Given the description of an element on the screen output the (x, y) to click on. 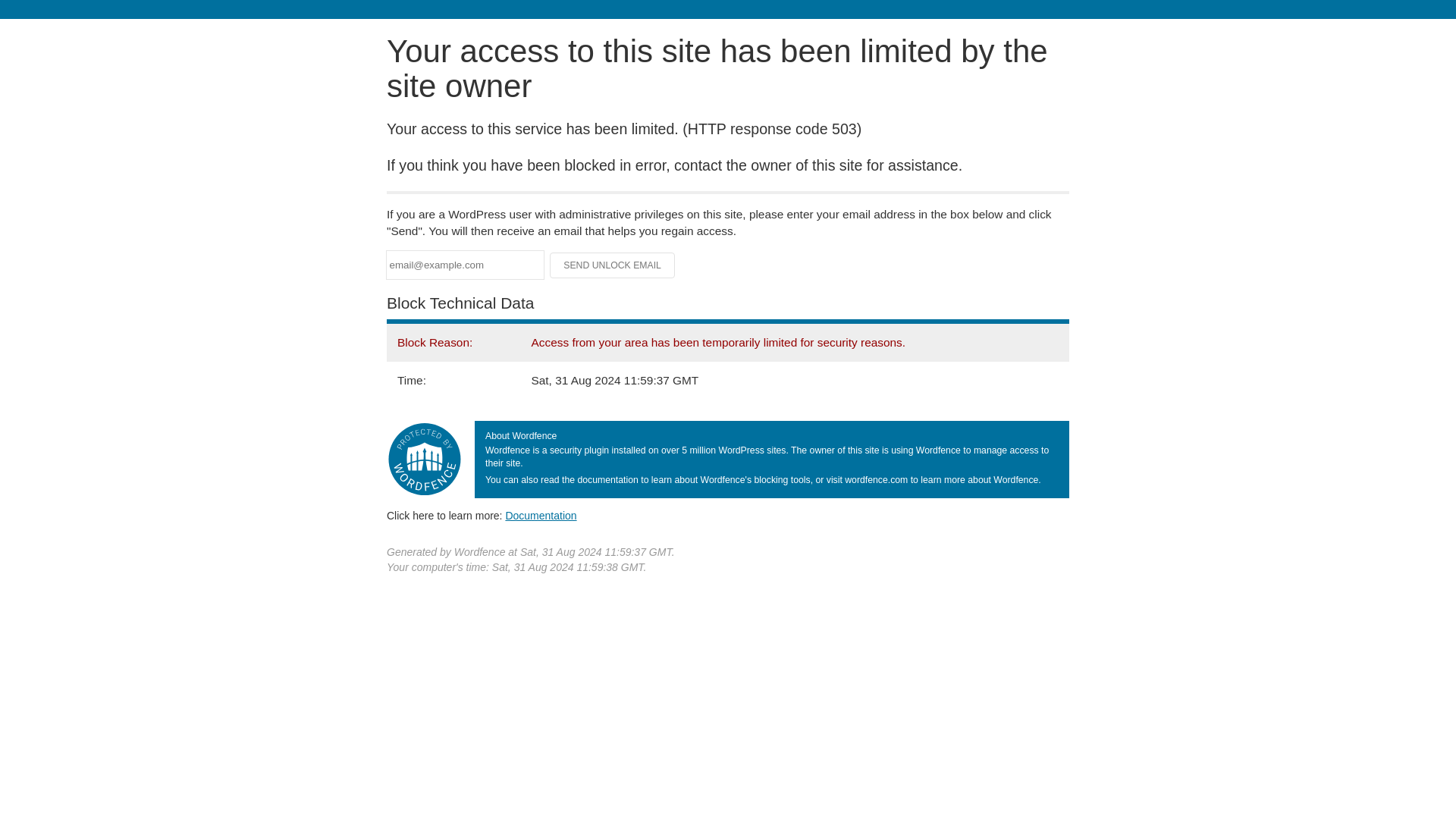
Send Unlock Email (612, 265)
Send Unlock Email (612, 265)
Documentation (540, 515)
